Given the description of an element on the screen output the (x, y) to click on. 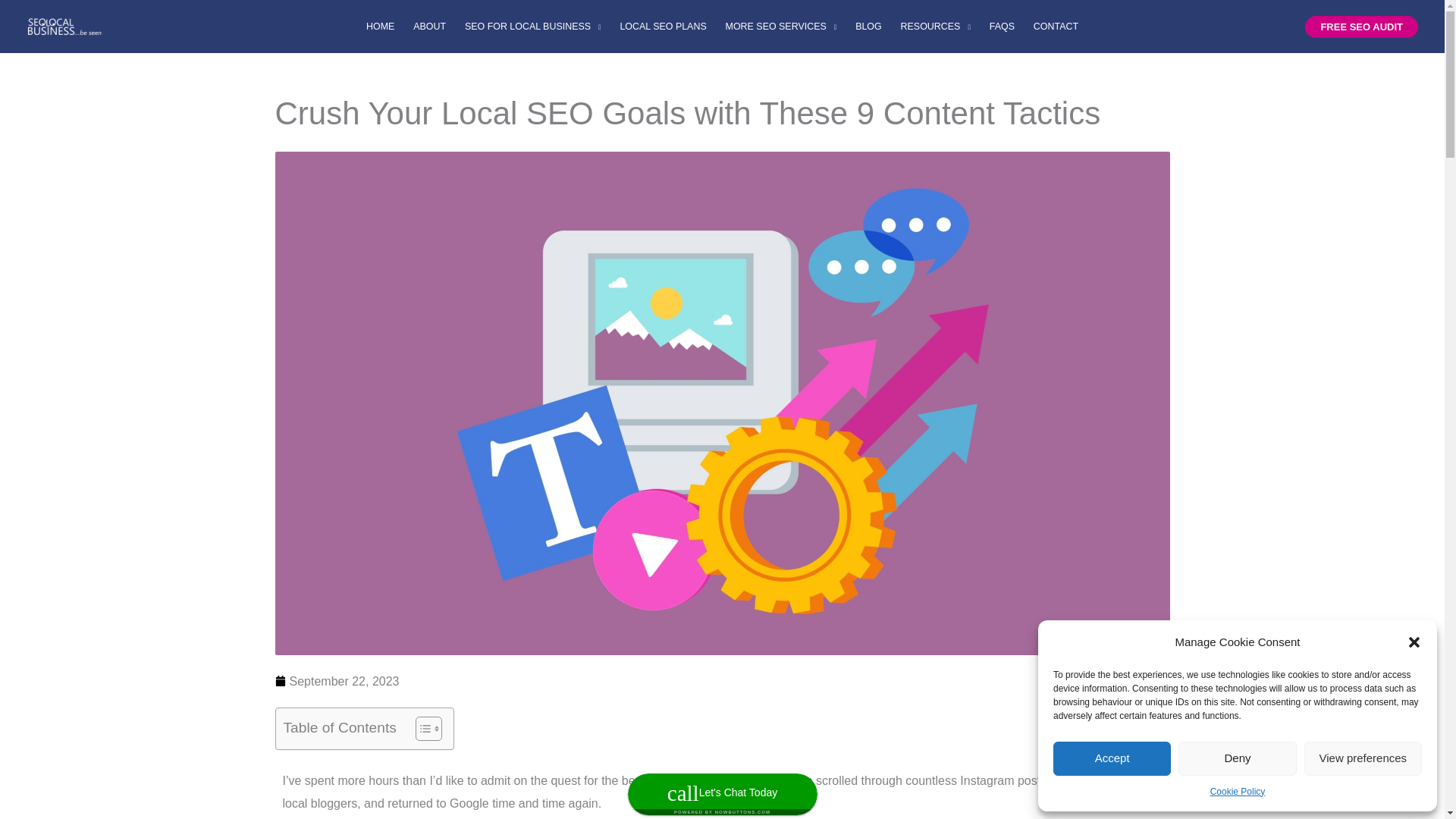
SEO FOR LOCAL BUSINESS (532, 26)
View preferences (1363, 758)
RESOURCES (935, 26)
MORE SEO SERVICES (780, 26)
Deny (1236, 758)
Accept (1111, 758)
CONTACT (1055, 26)
FREE SEO AUDIT (1361, 25)
LOCAL SEO PLANS (663, 26)
Cookie Policy (1237, 791)
